Given the description of an element on the screen output the (x, y) to click on. 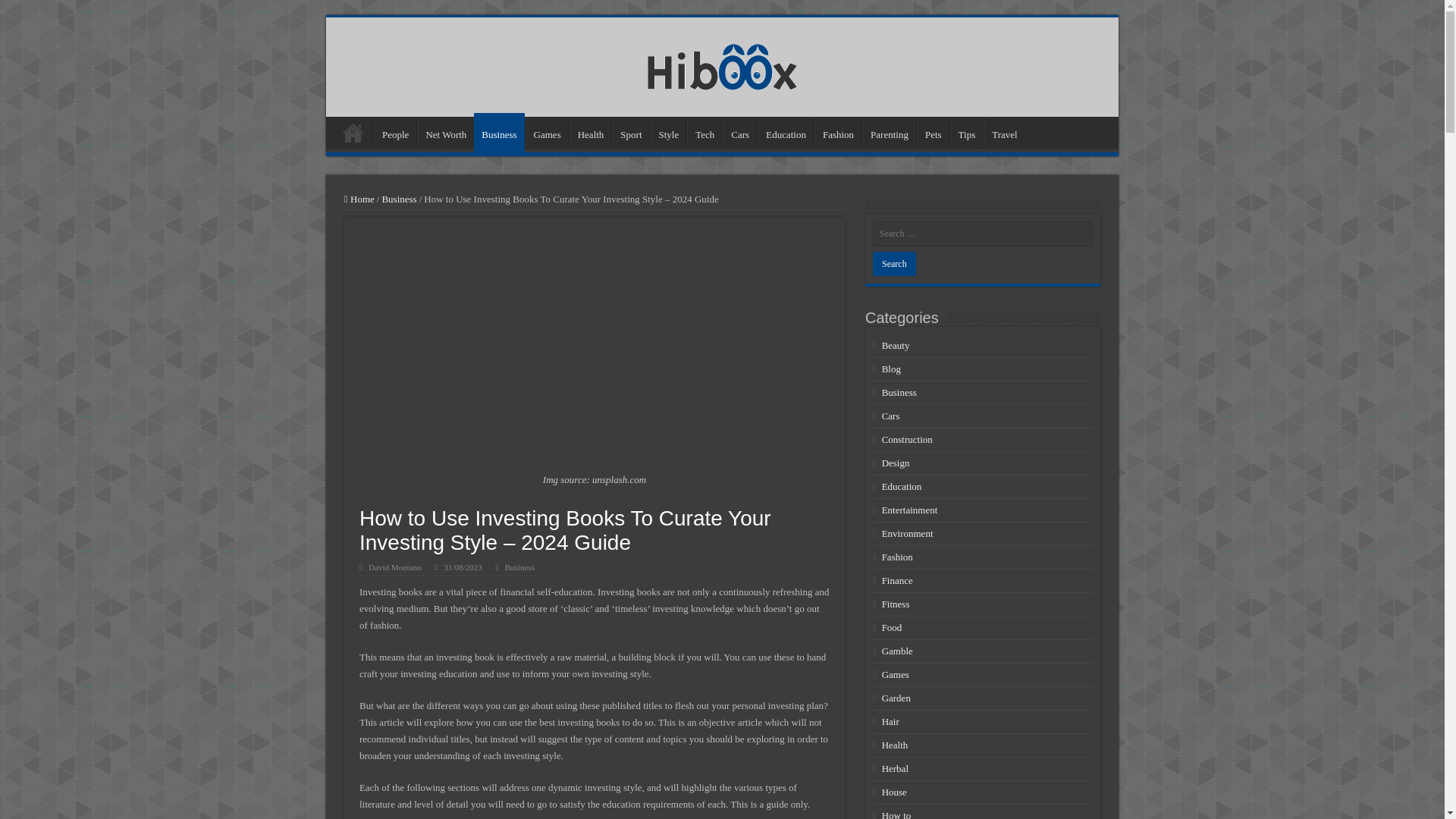
Education (785, 132)
Search (893, 263)
Style (668, 132)
Search (893, 263)
Sport (630, 132)
Health (590, 132)
Games (547, 132)
Tech (704, 132)
Parenting (888, 132)
Business (519, 566)
Net Worth (445, 132)
Hi Boox (721, 63)
Home (352, 132)
Cars (739, 132)
Tips (967, 132)
